Given the description of an element on the screen output the (x, y) to click on. 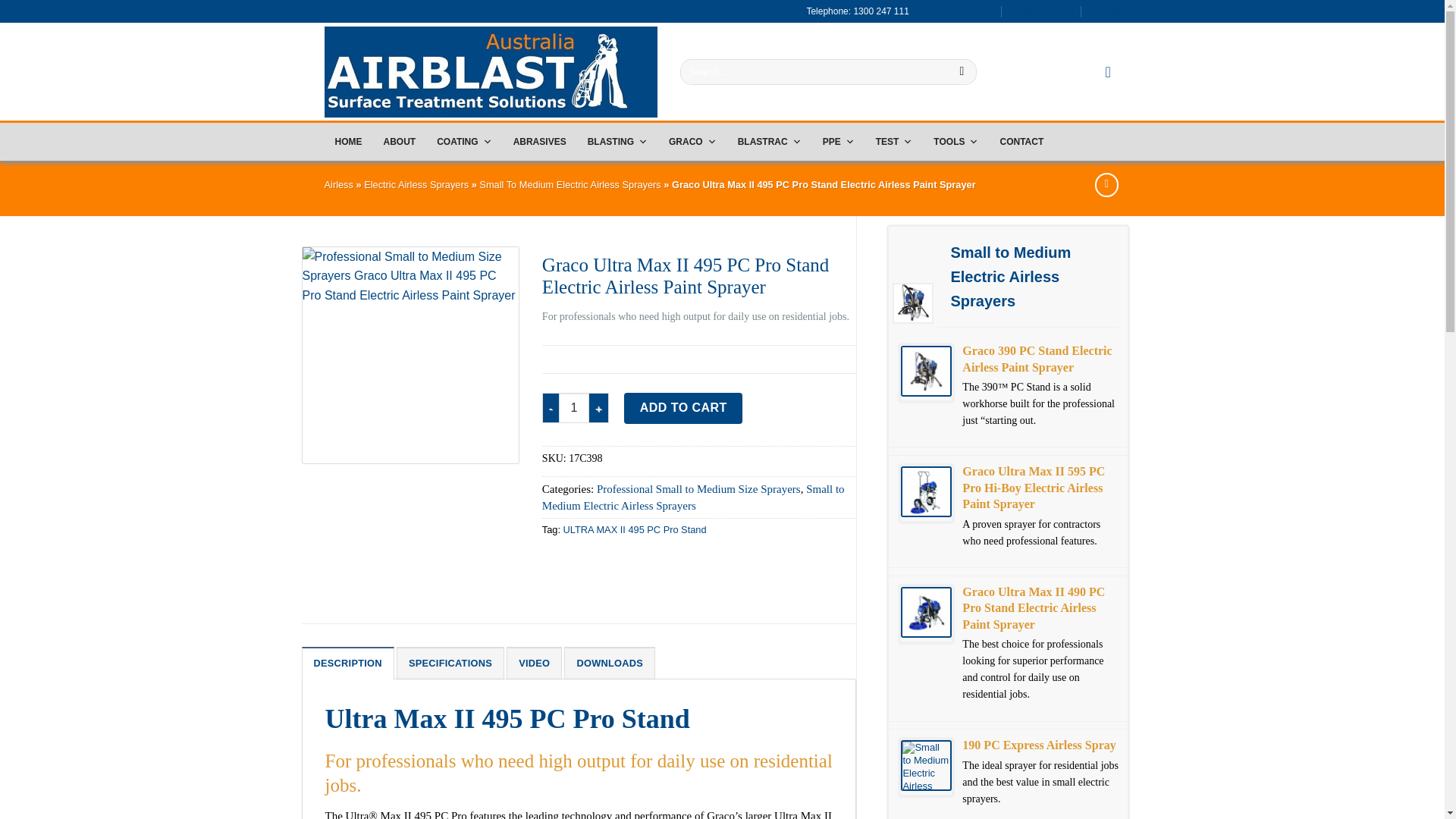
COATING (464, 141)
Graco 390 PC Stand Electric Airless Paint Sprayer (926, 370)
ABOUT (399, 141)
HOME (348, 141)
190 PC Express Airless Spray (926, 765)
Ultra Max II 495 PC Pro Stand (410, 355)
1 (574, 408)
Zoom (324, 441)
 1300 247 111 (957, 11)
Search (961, 71)
